Given the description of an element on the screen output the (x, y) to click on. 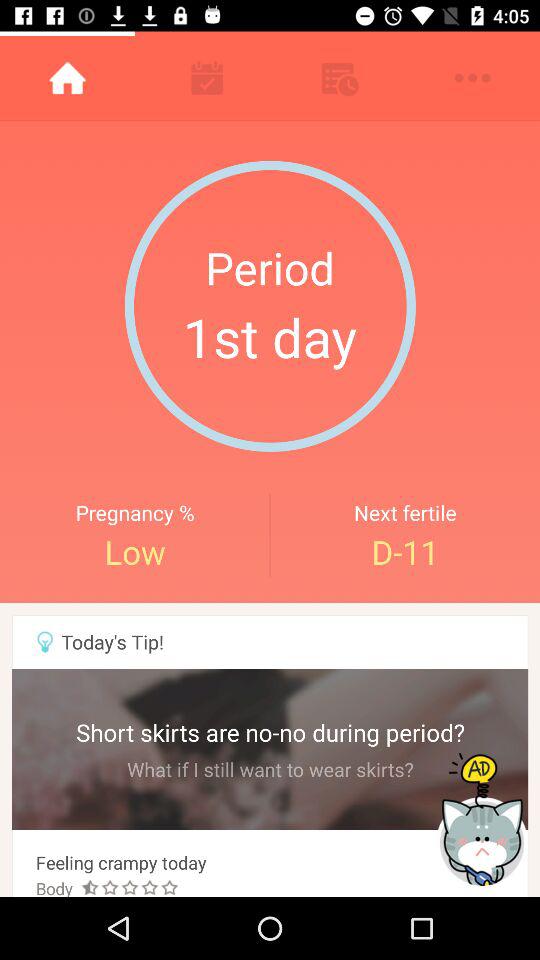
open advertisement (484, 820)
